Given the description of an element on the screen output the (x, y) to click on. 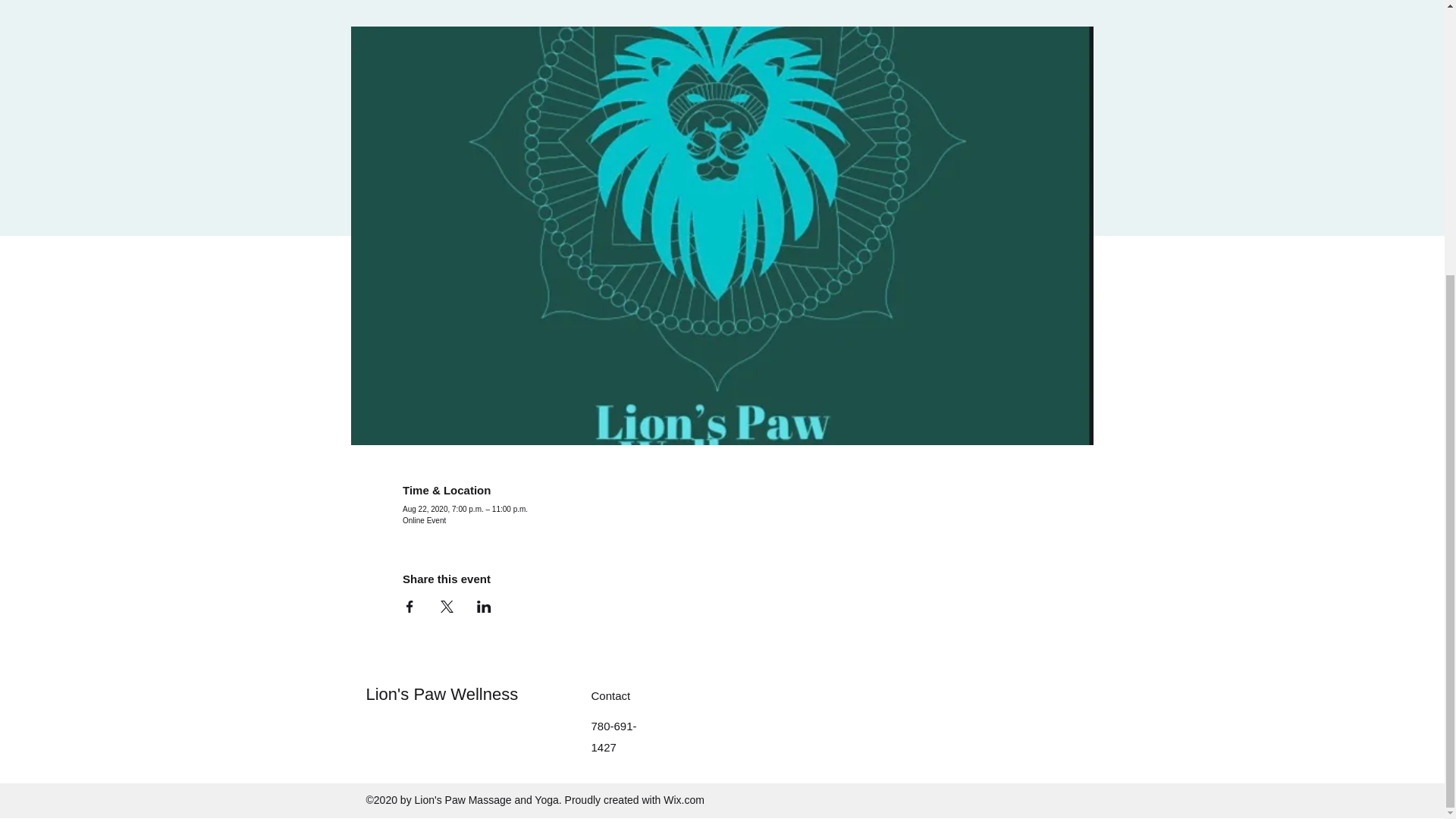
Lion's Paw Wellness (441, 693)
